Given the description of an element on the screen output the (x, y) to click on. 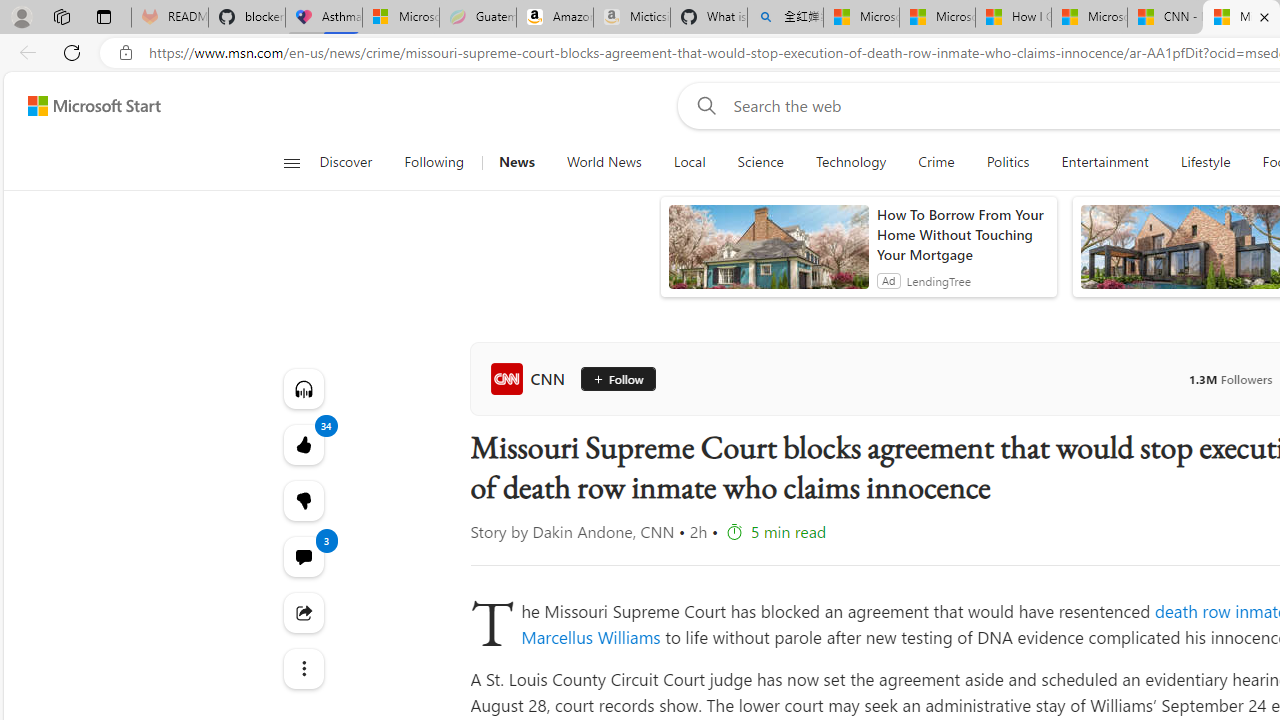
34 (302, 500)
How I Got Rid of Microsoft Edge's Unnecessary Features (1012, 17)
Share this story (302, 612)
CNN (531, 378)
LendingTree (938, 280)
